Given the description of an element on the screen output the (x, y) to click on. 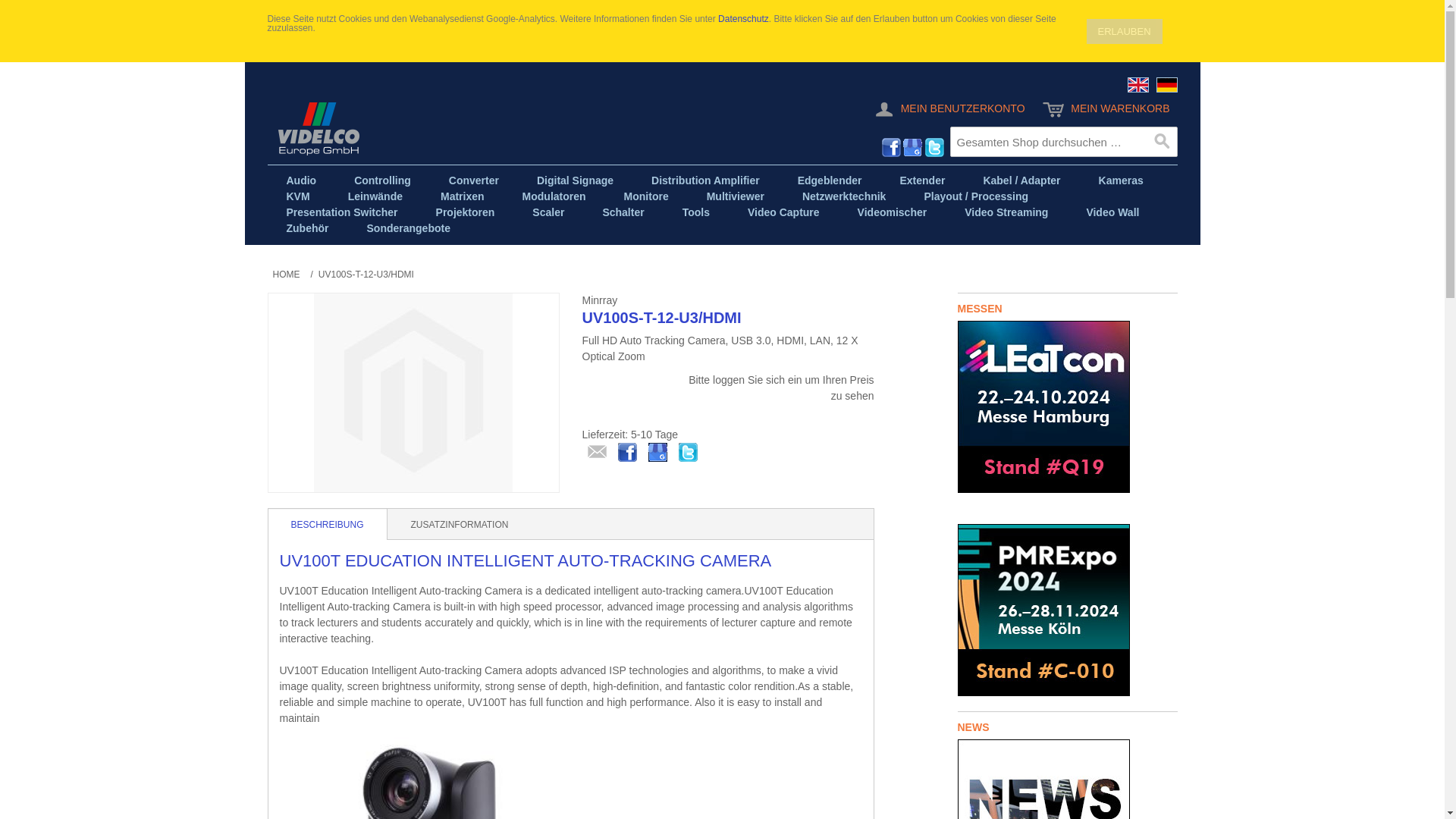
KVM (297, 196)
LEaTcon 2024 (1042, 407)
Extender (921, 180)
Digital Signage (574, 180)
Datenschutz (742, 18)
Controlling (381, 180)
PMR Expo 2024 (1042, 610)
Converter (473, 180)
MEIN WARENKORB (1105, 109)
MEIN BENUTZERKONTO (948, 109)
